Given the description of an element on the screen output the (x, y) to click on. 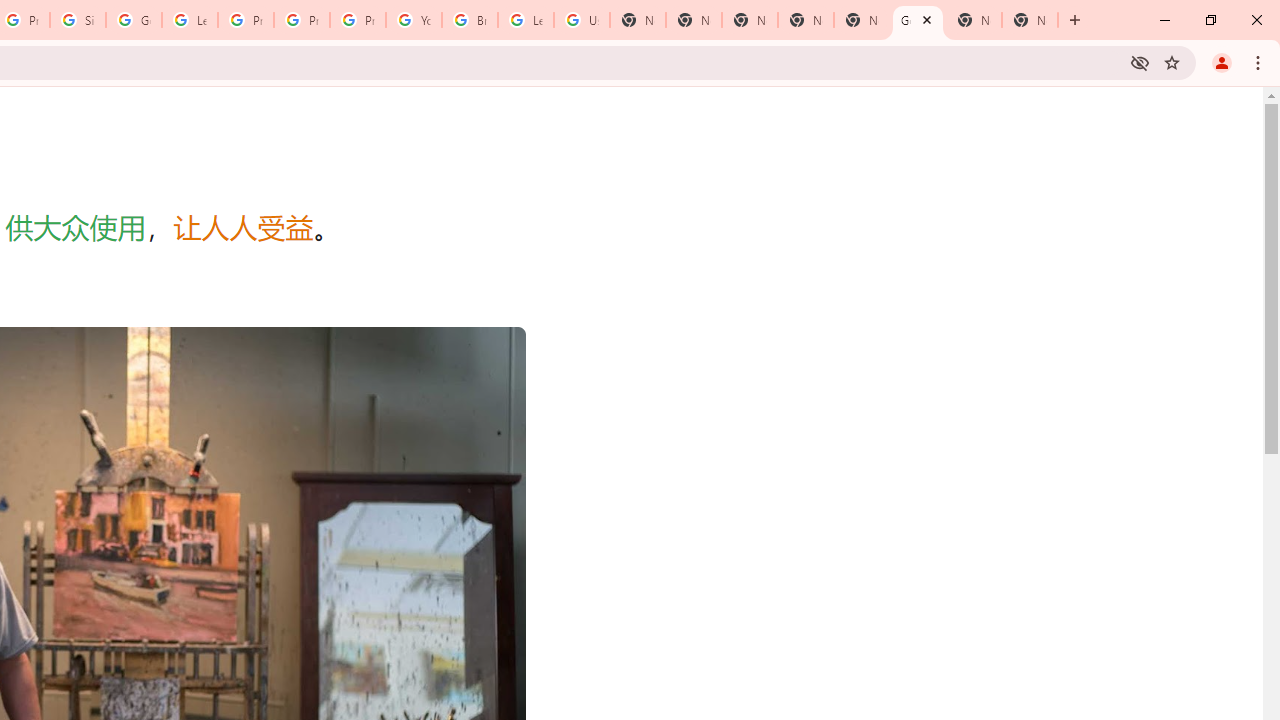
New Tab (1030, 20)
Sign in - Google Accounts (77, 20)
